Given the description of an element on the screen output the (x, y) to click on. 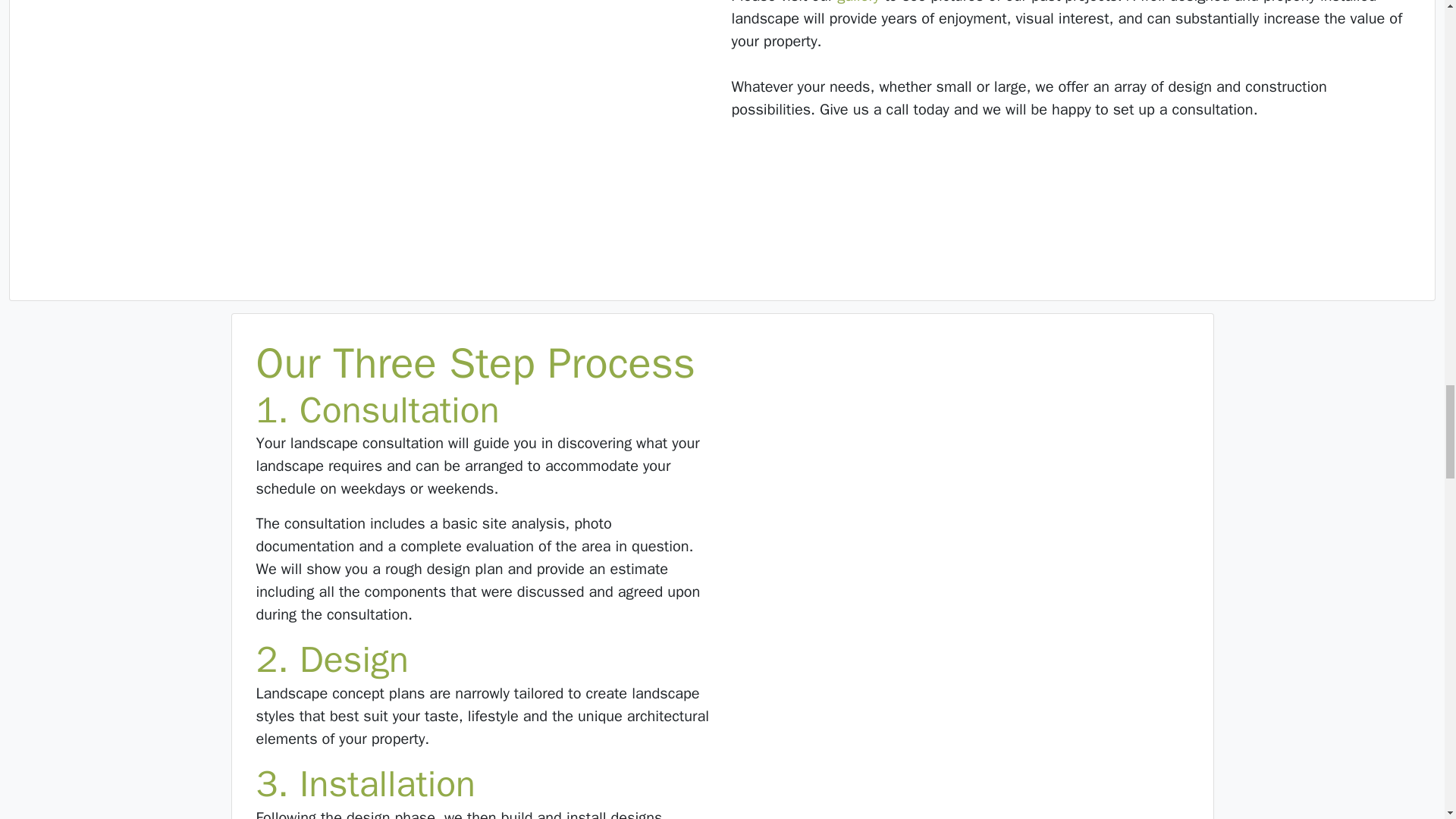
gallery (858, 2)
